Given the description of an element on the screen output the (x, y) to click on. 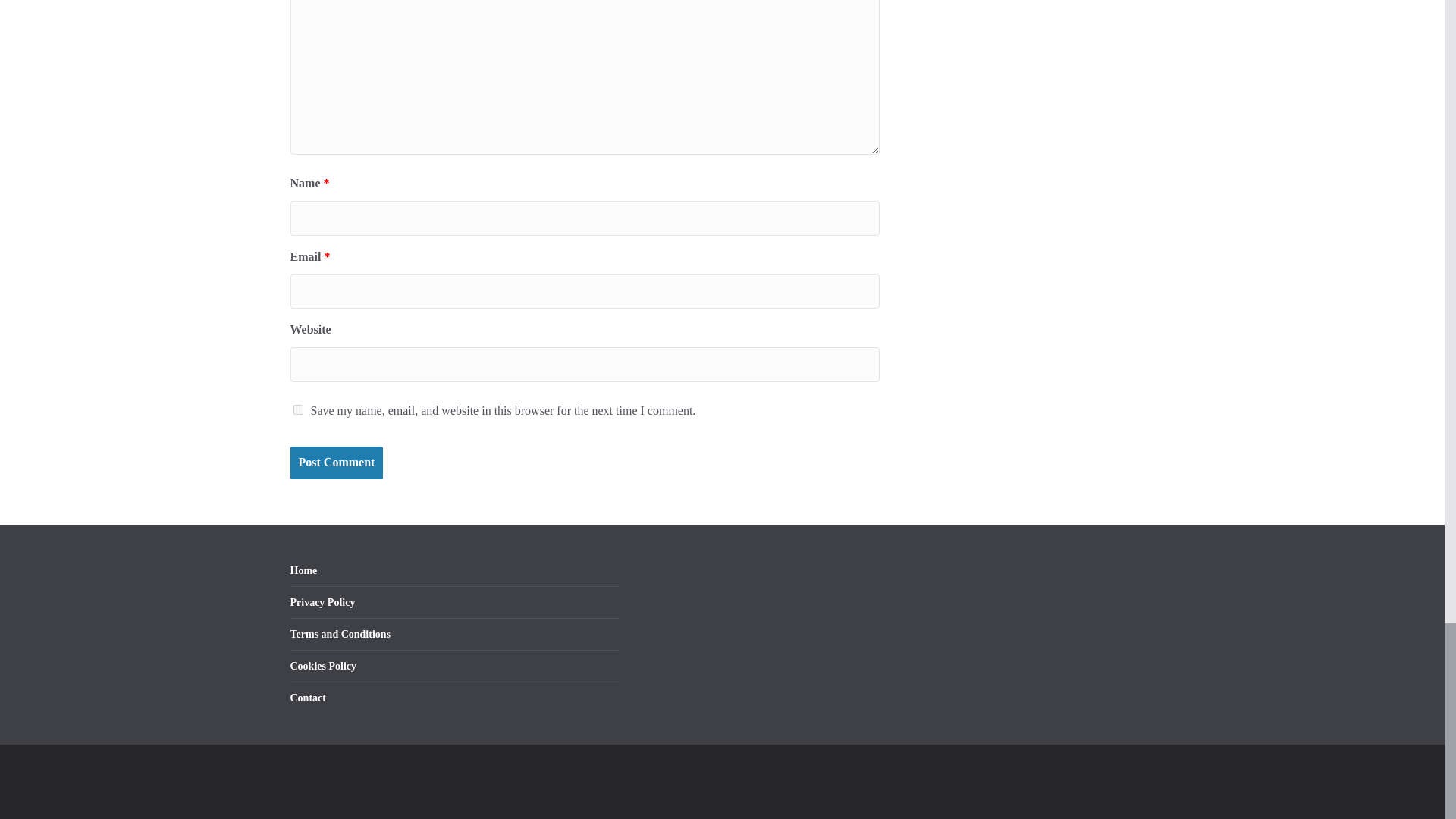
Post Comment (335, 462)
yes (297, 409)
Post Comment (335, 462)
